Given the description of an element on the screen output the (x, y) to click on. 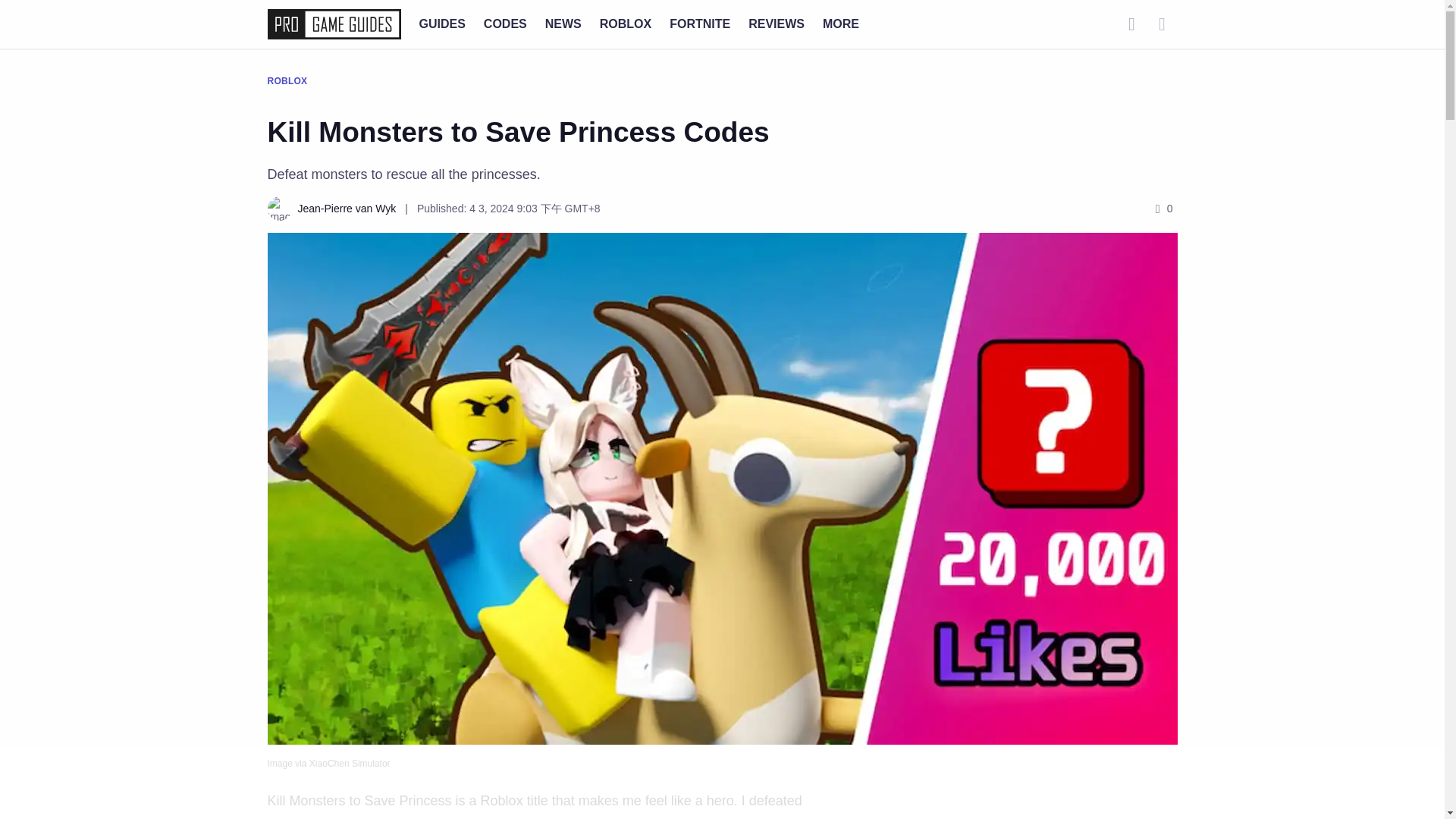
CODES (505, 23)
Search (1131, 24)
ROBLOX (624, 23)
FORTNITE (699, 23)
Dark Mode (1161, 24)
REVIEWS (776, 23)
3rd party ad content (1024, 813)
GUIDES (441, 23)
3rd party ad content (721, 785)
NEWS (562, 23)
